Given the description of an element on the screen output the (x, y) to click on. 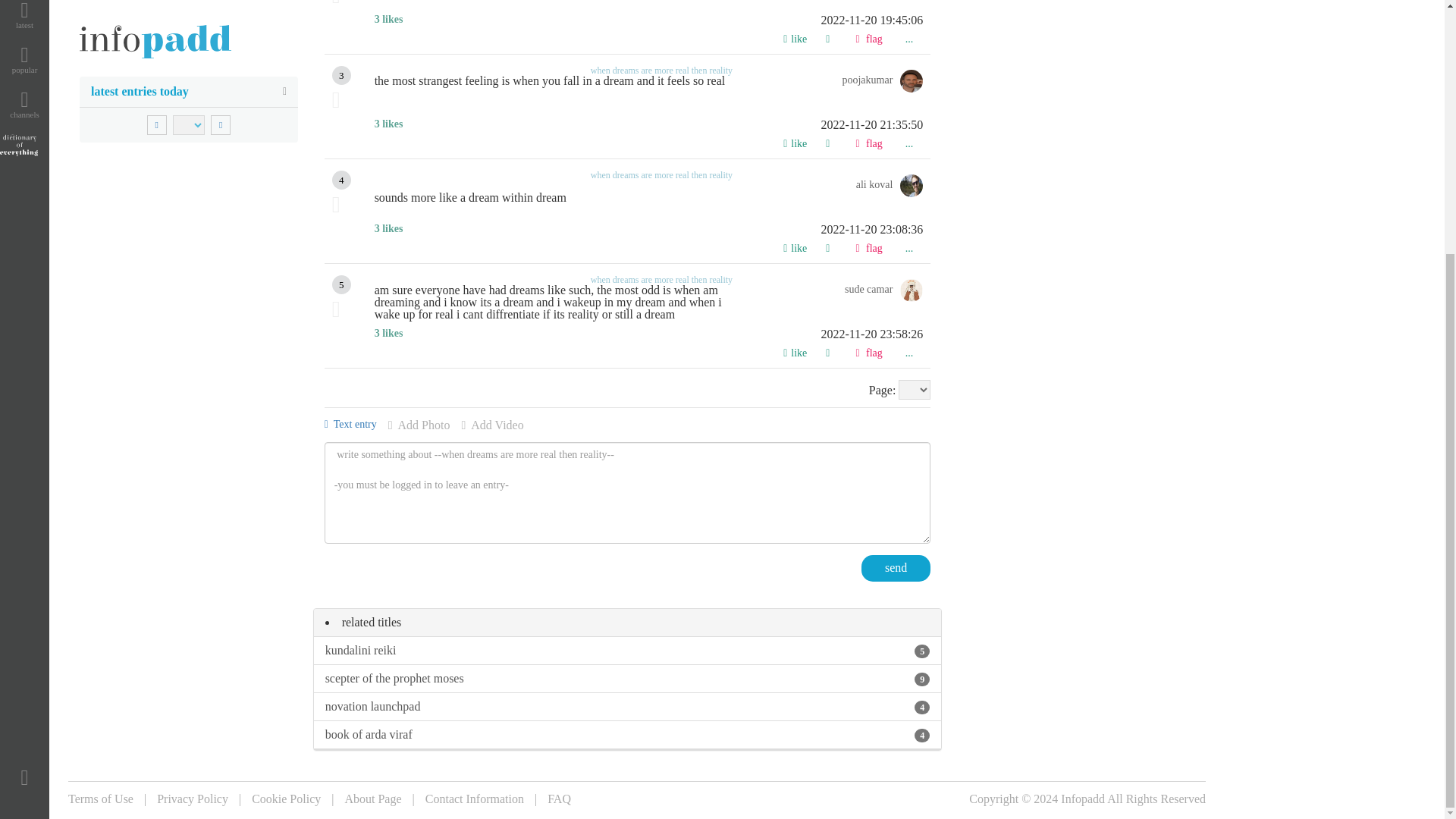
... (909, 140)
2022-11-20 19:45:06 (648, 20)
... (909, 35)
like (794, 140)
flag (868, 35)
like (794, 35)
poojakumar (882, 82)
2022-11-20 21:35:50 (648, 124)
flag (868, 140)
2022-11-20 23:58:26 (648, 334)
